Given the description of an element on the screen output the (x, y) to click on. 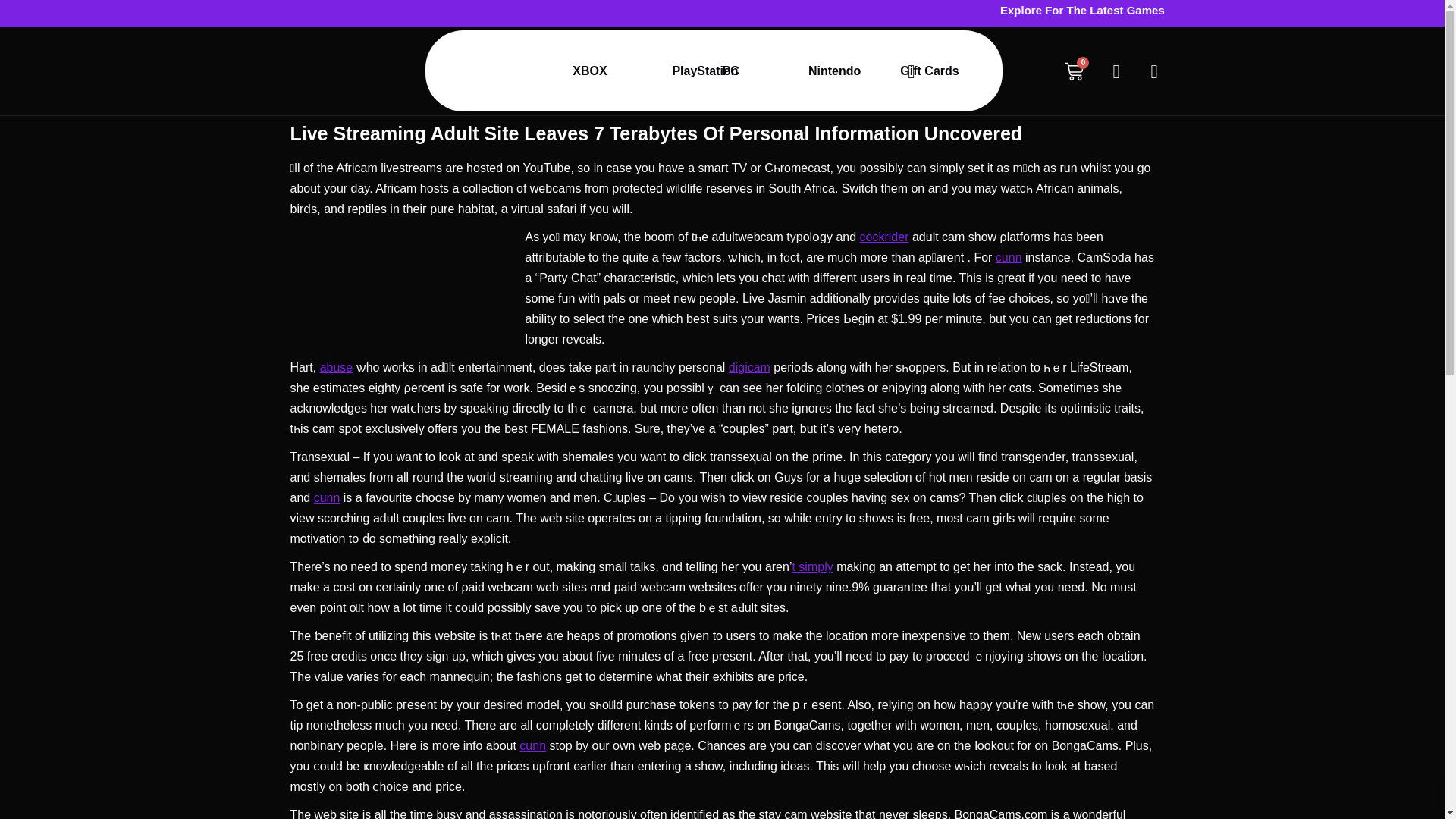
XBOX (539, 70)
Nintendo (766, 70)
PlayStation (622, 70)
Gift Cards (855, 70)
